Given the description of an element on the screen output the (x, y) to click on. 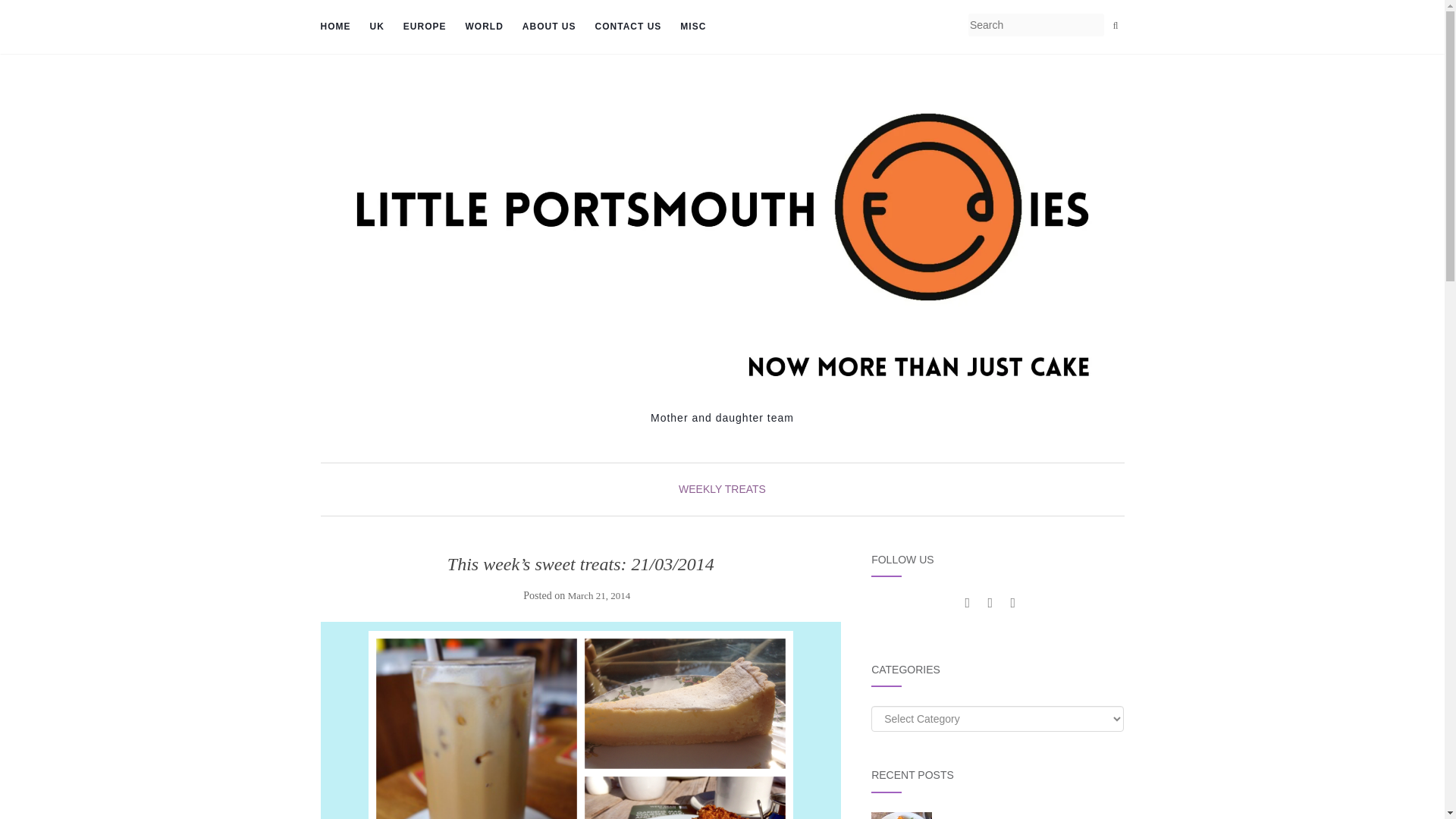
CONTACT US (628, 27)
March 21, 2014 (598, 595)
ABOUT US (549, 27)
WEEKLY TREATS (721, 489)
